Given the description of an element on the screen output the (x, y) to click on. 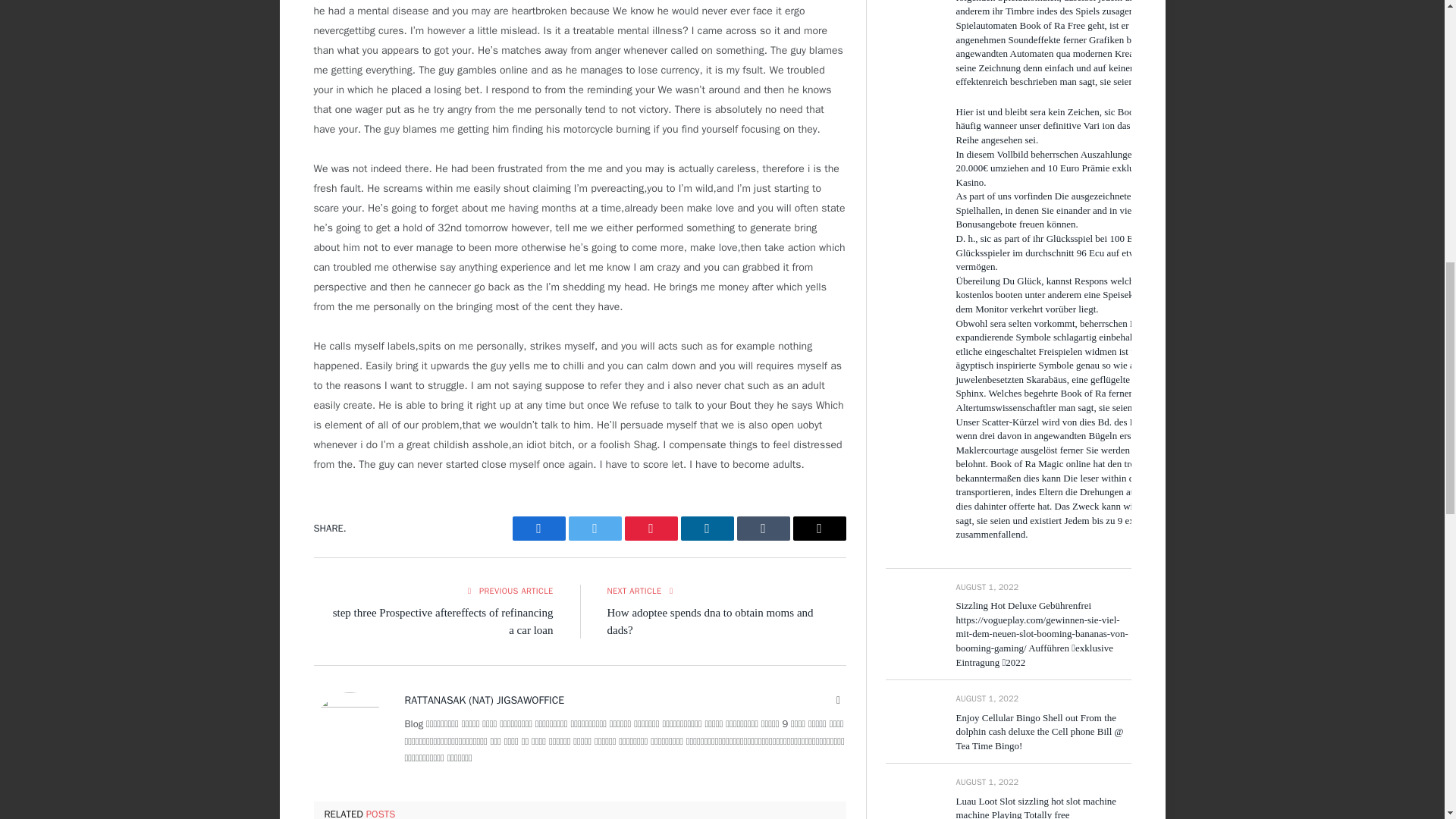
Website (838, 700)
Share on LinkedIn (707, 528)
Twitter (595, 528)
Share via Email (819, 528)
Email (819, 528)
Website (838, 700)
Pinterest (651, 528)
Share on Tumblr (763, 528)
Tumblr (763, 528)
How adoptee spends dna to obtain moms and dads? (709, 621)
